Given the description of an element on the screen output the (x, y) to click on. 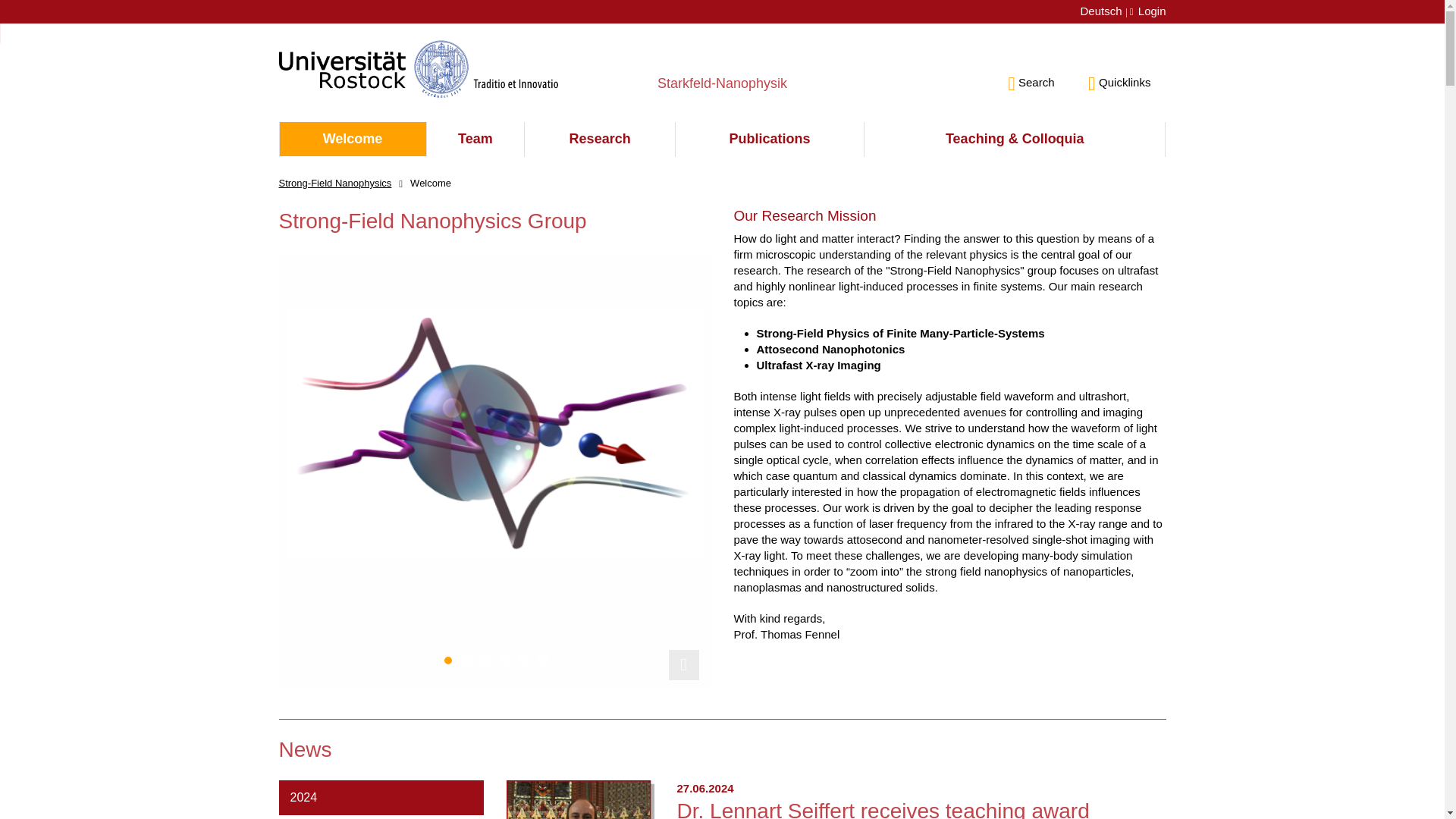
Welcome (352, 139)
Go to slide 2 (467, 660)
Go to slide 5 (522, 660)
Go to slide 6 (542, 660)
Publications (769, 139)
Go to slide 3 (485, 660)
Team (475, 139)
Starkfeld-Nanophysik (722, 98)
Go to slide 4 (505, 660)
Research (599, 139)
